Given the description of an element on the screen output the (x, y) to click on. 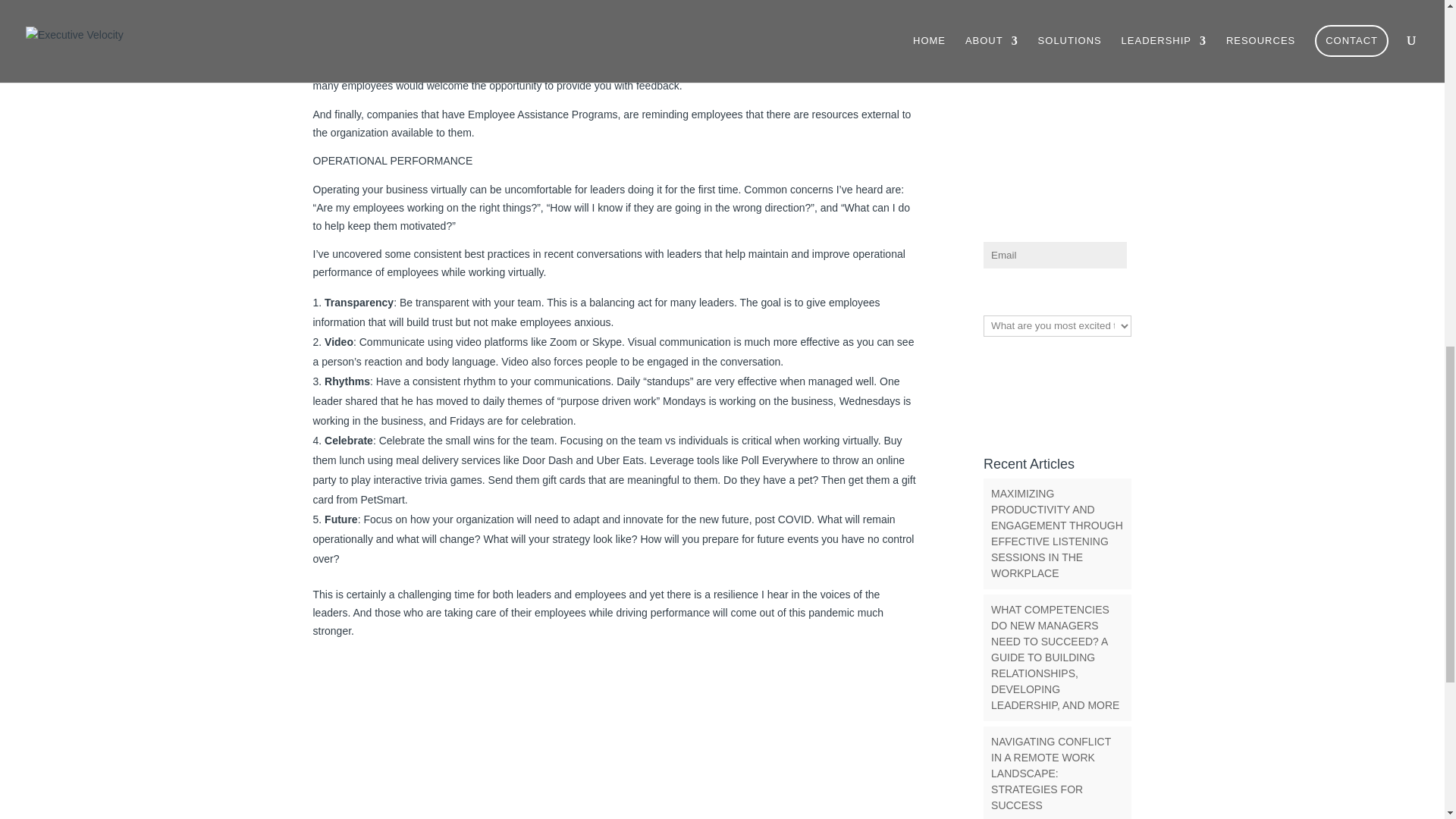
SIGN UP NOW! (1054, 359)
